Given the description of an element on the screen output the (x, y) to click on. 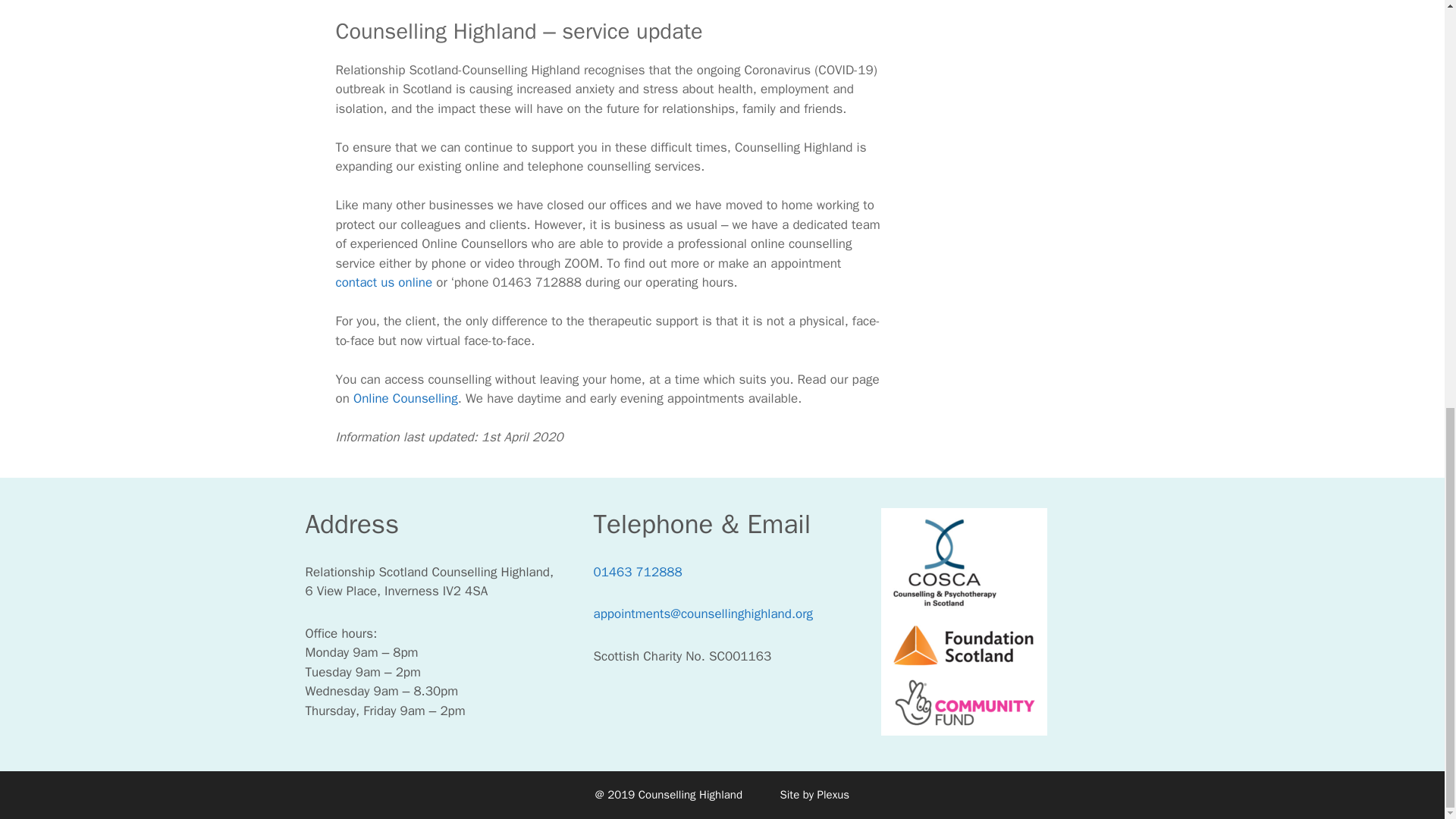
Online Counselling (405, 398)
contact us online (383, 282)
Plexus (833, 794)
01463 712888 (636, 571)
